Given the description of an element on the screen output the (x, y) to click on. 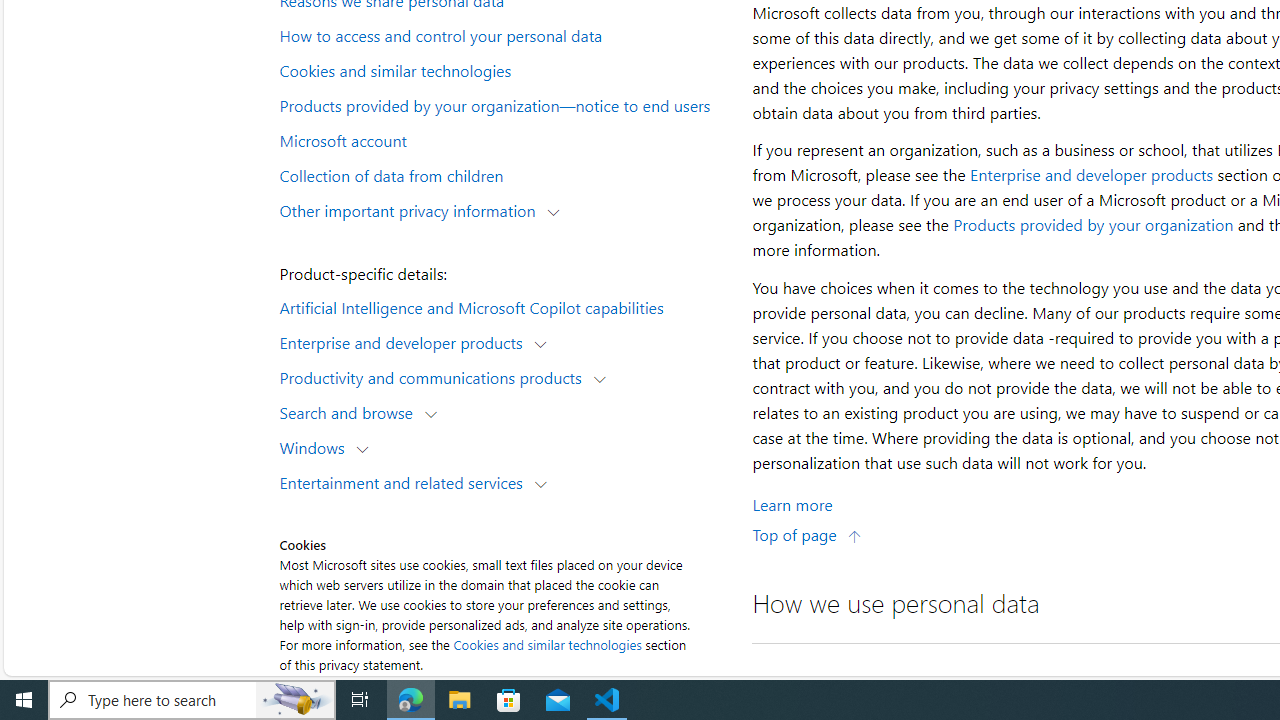
Cookies and similar technologies (547, 644)
Microsoft account (504, 139)
Products provided by your organization (1093, 224)
Artificial Intelligence and Microsoft Copilot capabilities (504, 306)
Learn More about Personal data we collect (792, 504)
Entertainment and related services (405, 481)
Other important privacy information (412, 209)
How to access and control your personal data (504, 35)
Windows (316, 446)
Cookies and similar technologies (504, 69)
Productivity and communications products (435, 376)
Top of page (807, 534)
Enterprise and developer products (1091, 174)
